Given the description of an element on the screen output the (x, y) to click on. 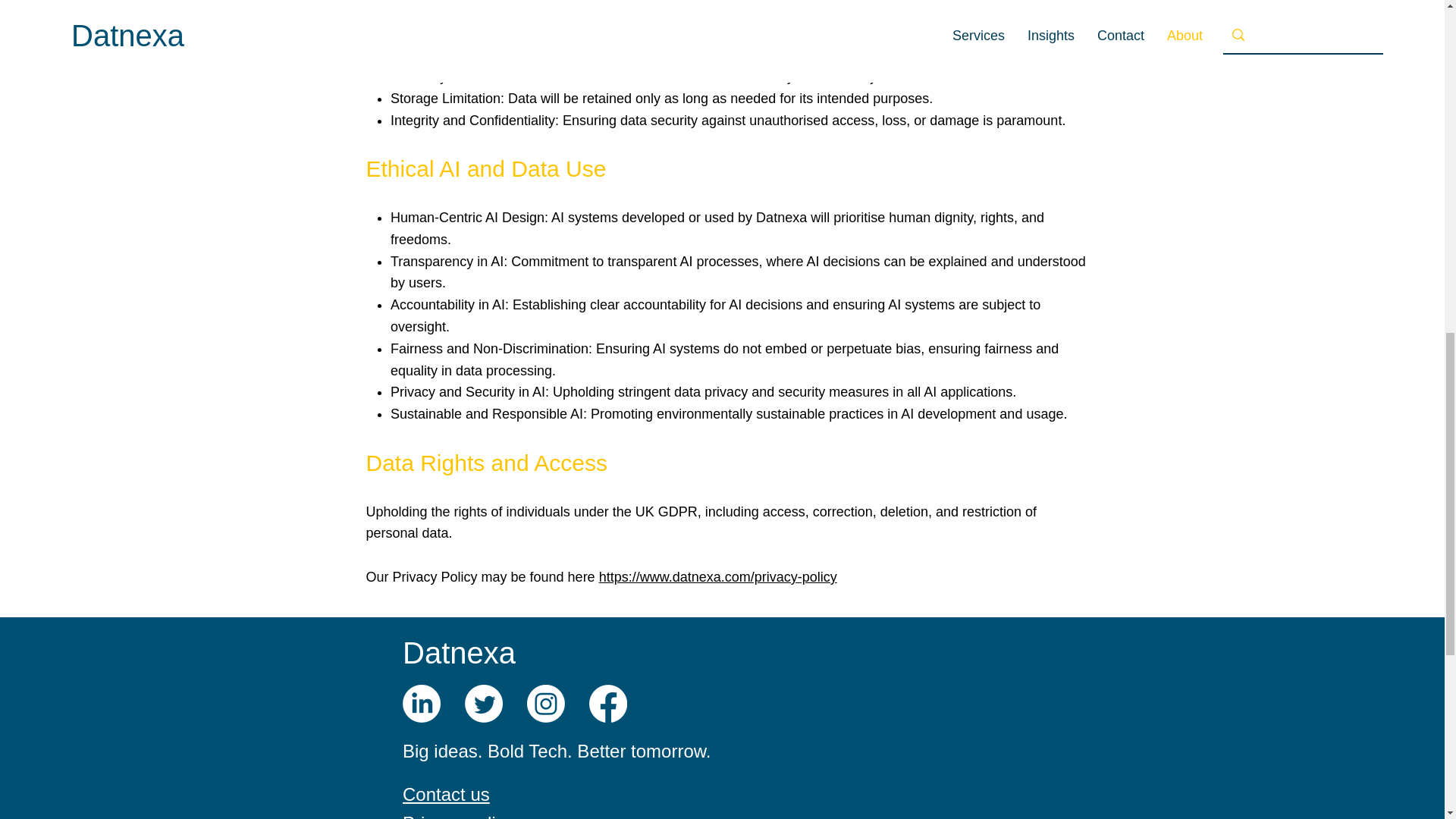
Privacy policy (458, 816)
Datnexa (459, 652)
Contact us (446, 793)
